Given the description of an element on the screen output the (x, y) to click on. 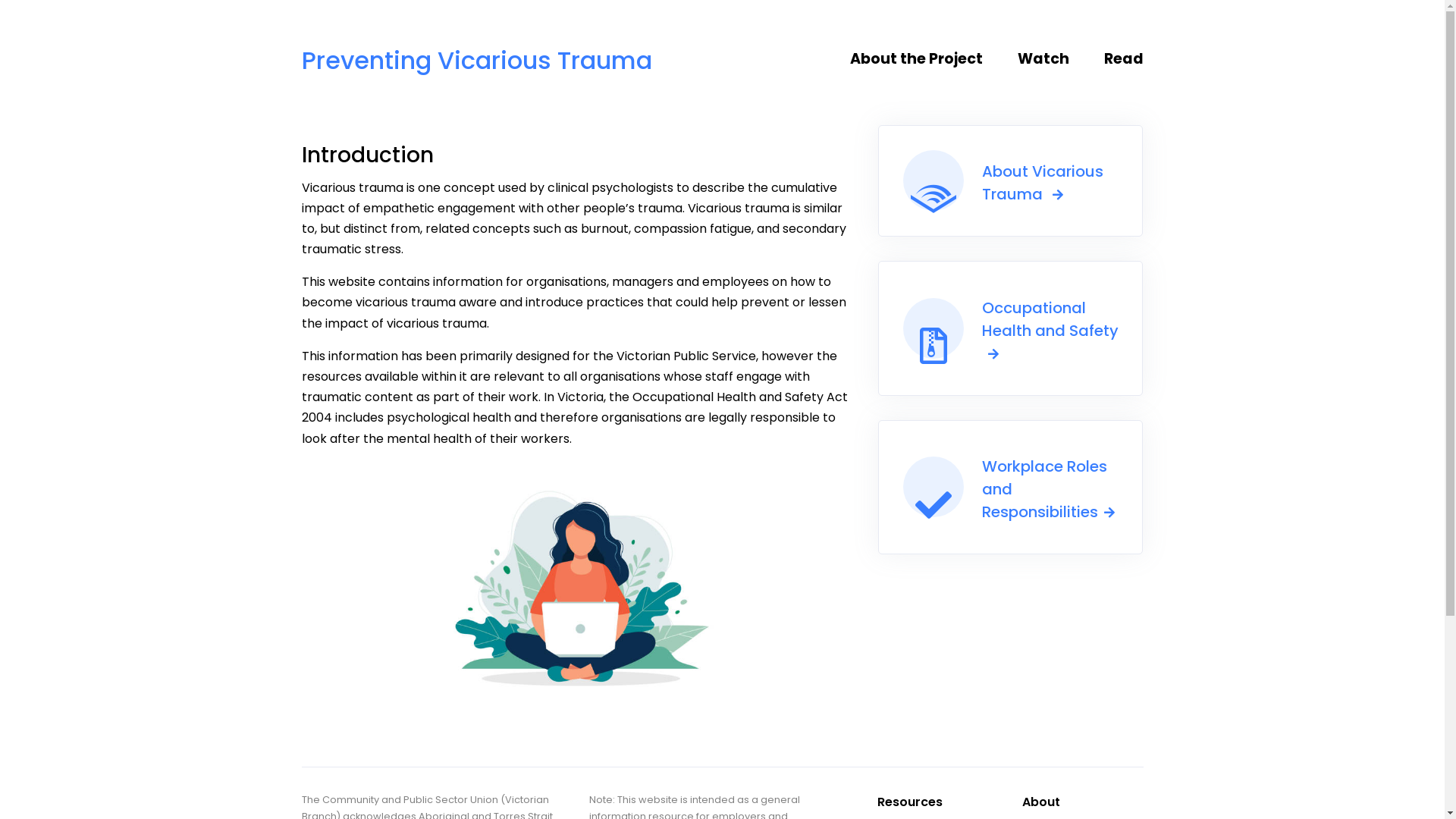
Read Element type: text (1118, 59)
About the Project Element type: text (927, 59)
About Vicarious Trauma Element type: text (1010, 180)
Workplace Roles and Responsibilities Element type: text (1010, 487)
Preventing Vicarious Trauma Element type: text (476, 52)
Occupational Health and Safety Element type: text (1010, 327)
Watch Element type: text (1050, 59)
